Given the description of an element on the screen output the (x, y) to click on. 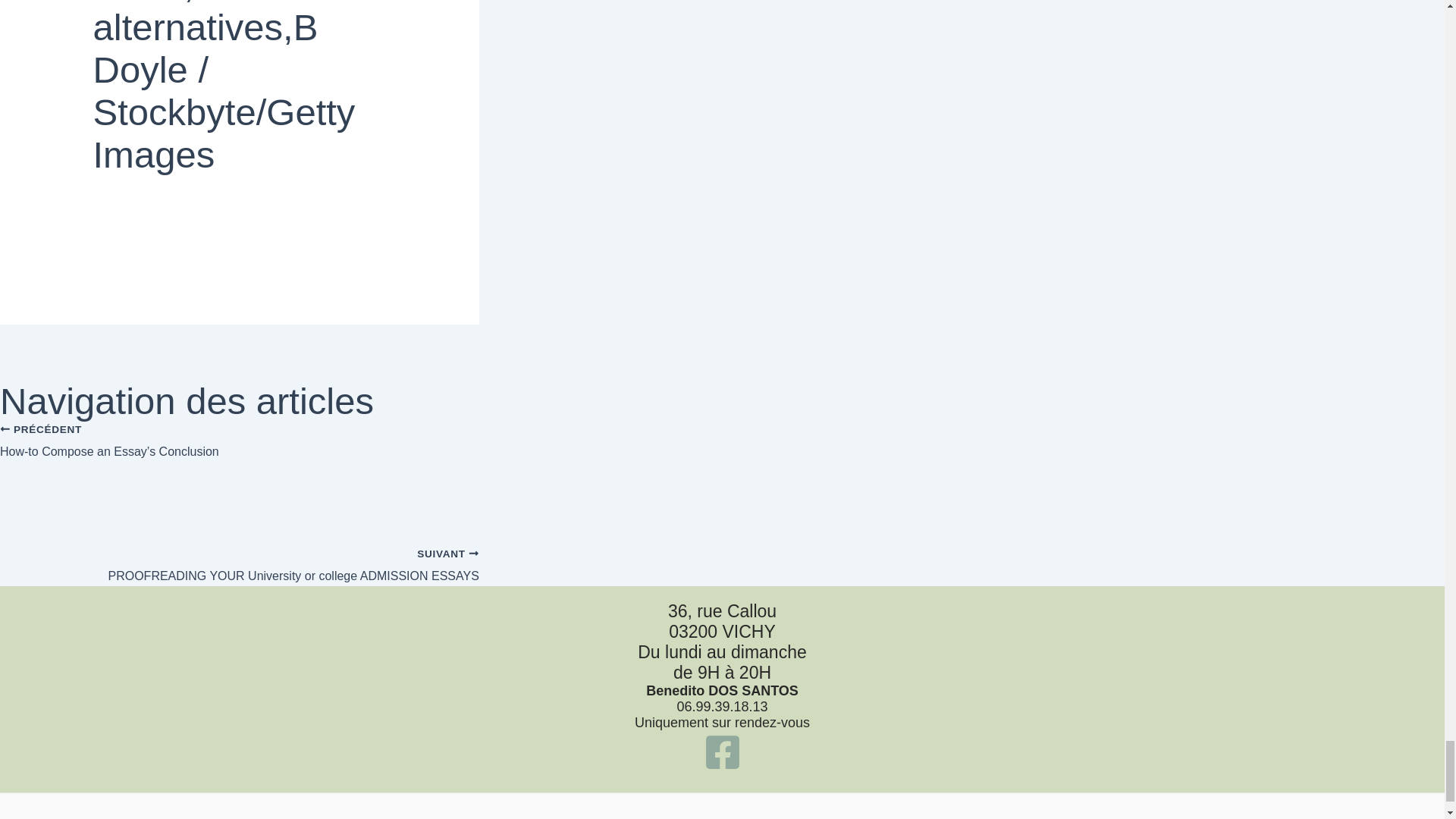
How-to Compose an Essay's Conclusion (239, 459)
PROOFREADING YOUR University or college ADMISSION ESSAYS (239, 556)
